Given the description of an element on the screen output the (x, y) to click on. 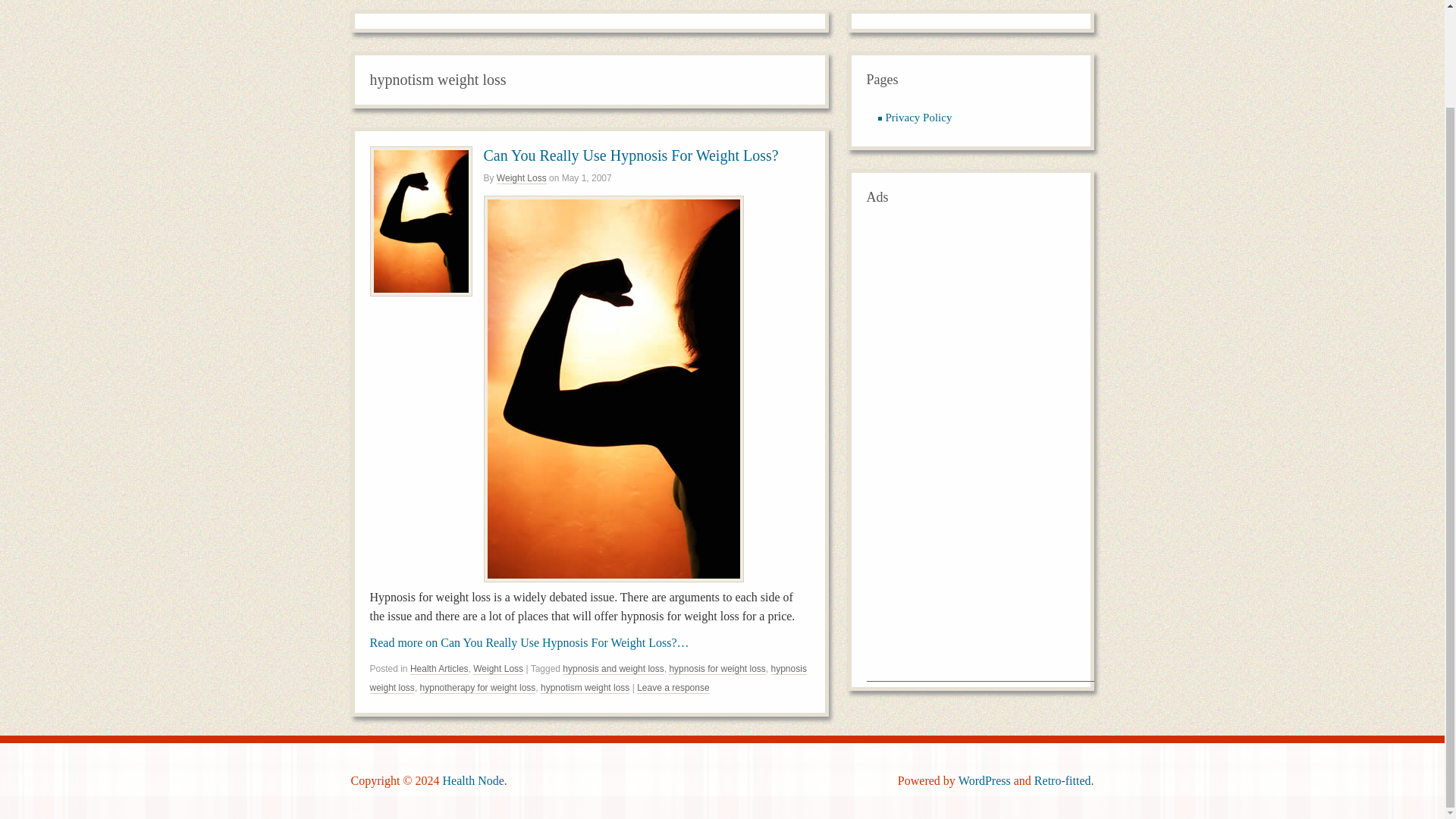
hypnosis for weight loss (716, 668)
Comment on Can You Really Use Hypnosis For Weight Loss? (673, 687)
hypnotism weight loss (584, 687)
Privacy Policy (918, 117)
Leave a response (673, 687)
hypnosis.jpg (613, 577)
hypnosis weight loss (587, 678)
hypnotherapy for weight loss (477, 687)
Health Node (472, 780)
State-of-the-art semantic personal publishing platform (984, 780)
hypnosis and weight loss (612, 668)
Health Node (472, 780)
Can You Really Use Hypnosis For Weight Loss? (630, 155)
Tuesday, May 1st, 2007, 2:21 pm (586, 177)
Retro-fitted (1061, 780)
